Given the description of an element on the screen output the (x, y) to click on. 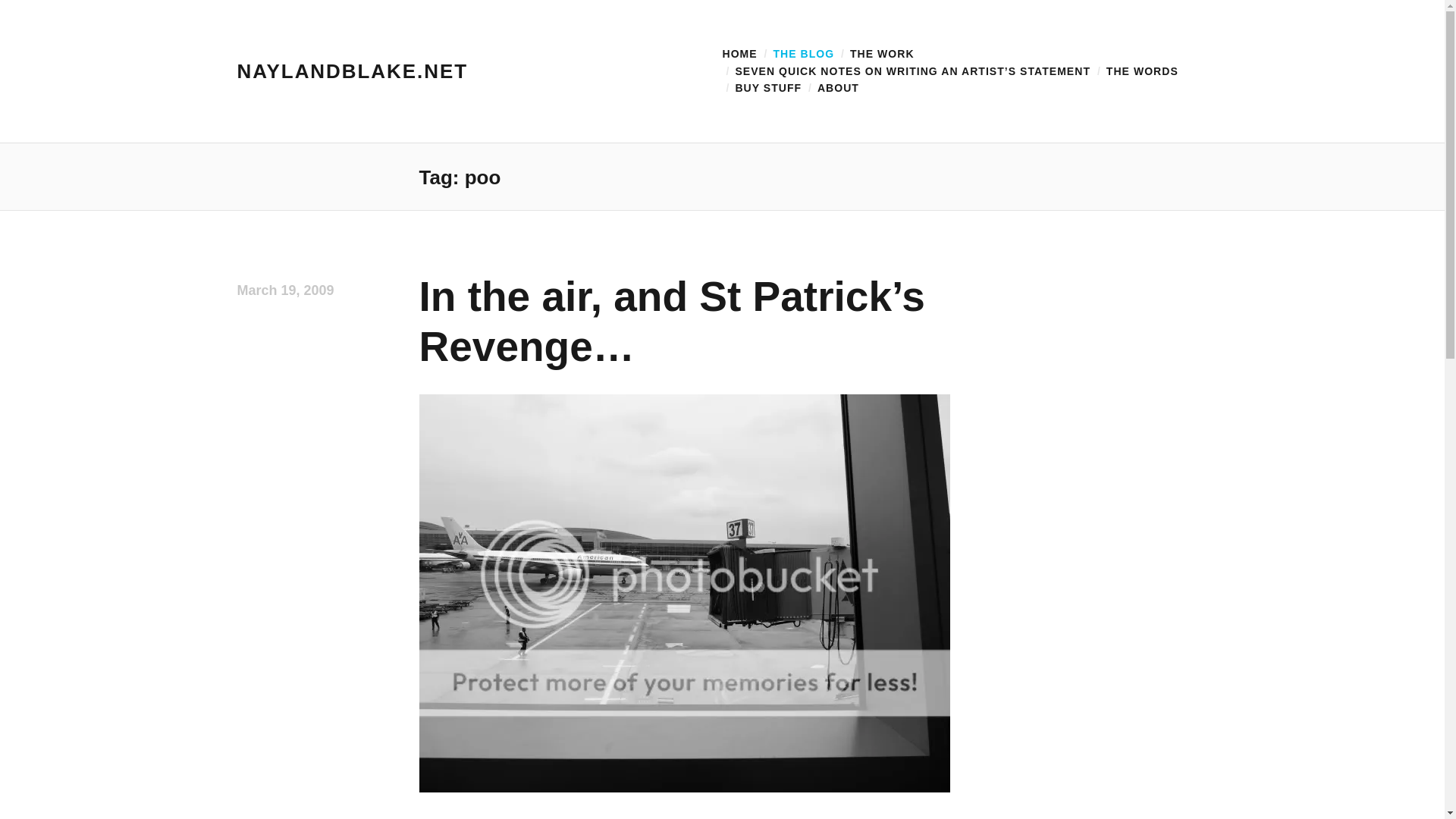
March 19, 2009 (284, 290)
BUY STUFF (768, 87)
THE BLOG (803, 53)
THE WORK (882, 53)
NAYLANDBLAKE.NET (351, 69)
HOME (739, 53)
ABOUT (837, 87)
THE WORDS (1141, 70)
